Given the description of an element on the screen output the (x, y) to click on. 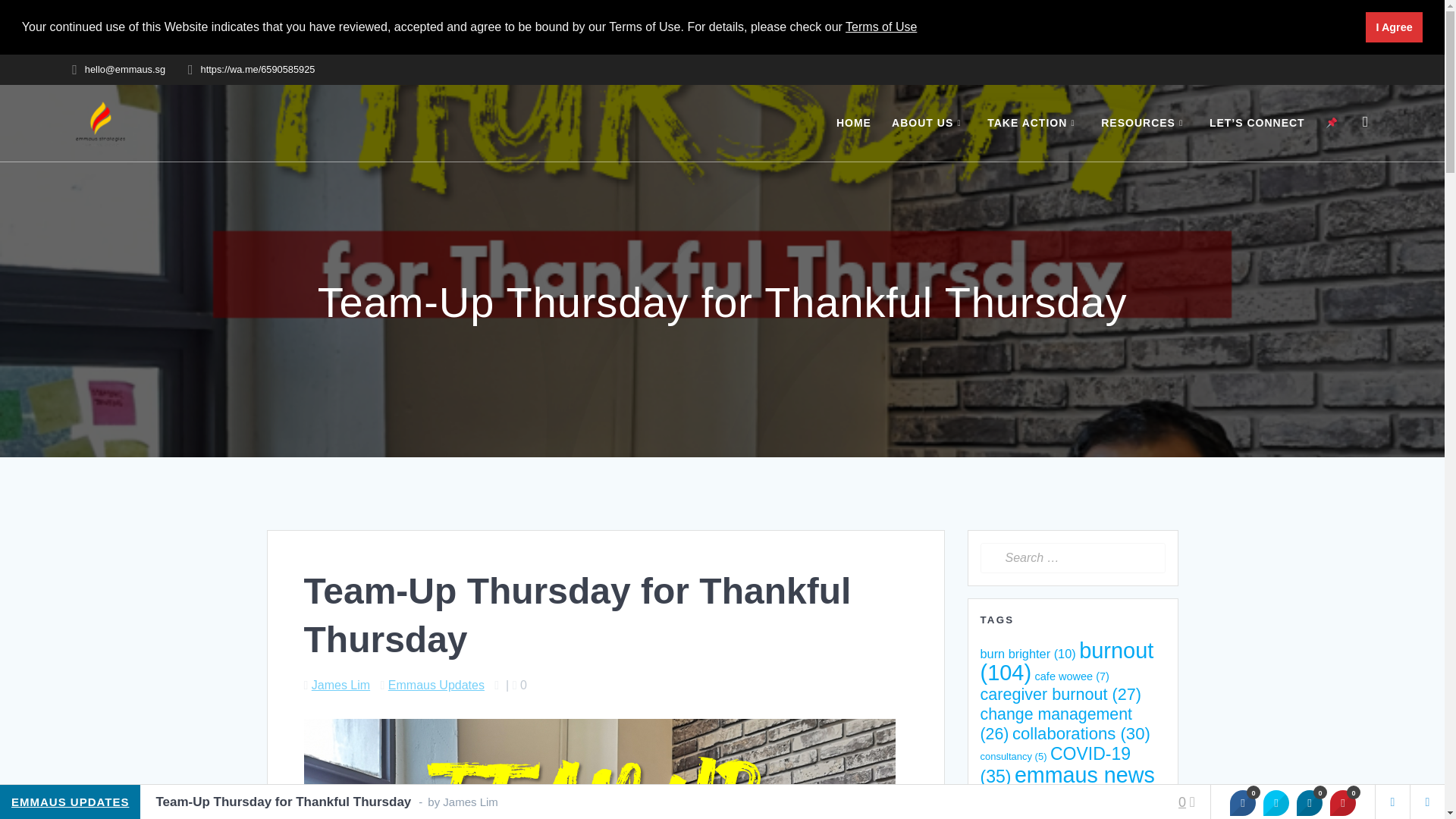
TAKE ACTION (1033, 122)
HOME (852, 122)
ABOUT US (928, 122)
RESOURCES (1144, 122)
Share on Linkedin (1309, 802)
Share on Twitter (1275, 802)
Terms of Use (881, 26)
James Lim (340, 684)
Share on Facebook (1242, 802)
Posts by James Lim (340, 684)
I Agree (1393, 27)
